Given the description of an element on the screen output the (x, y) to click on. 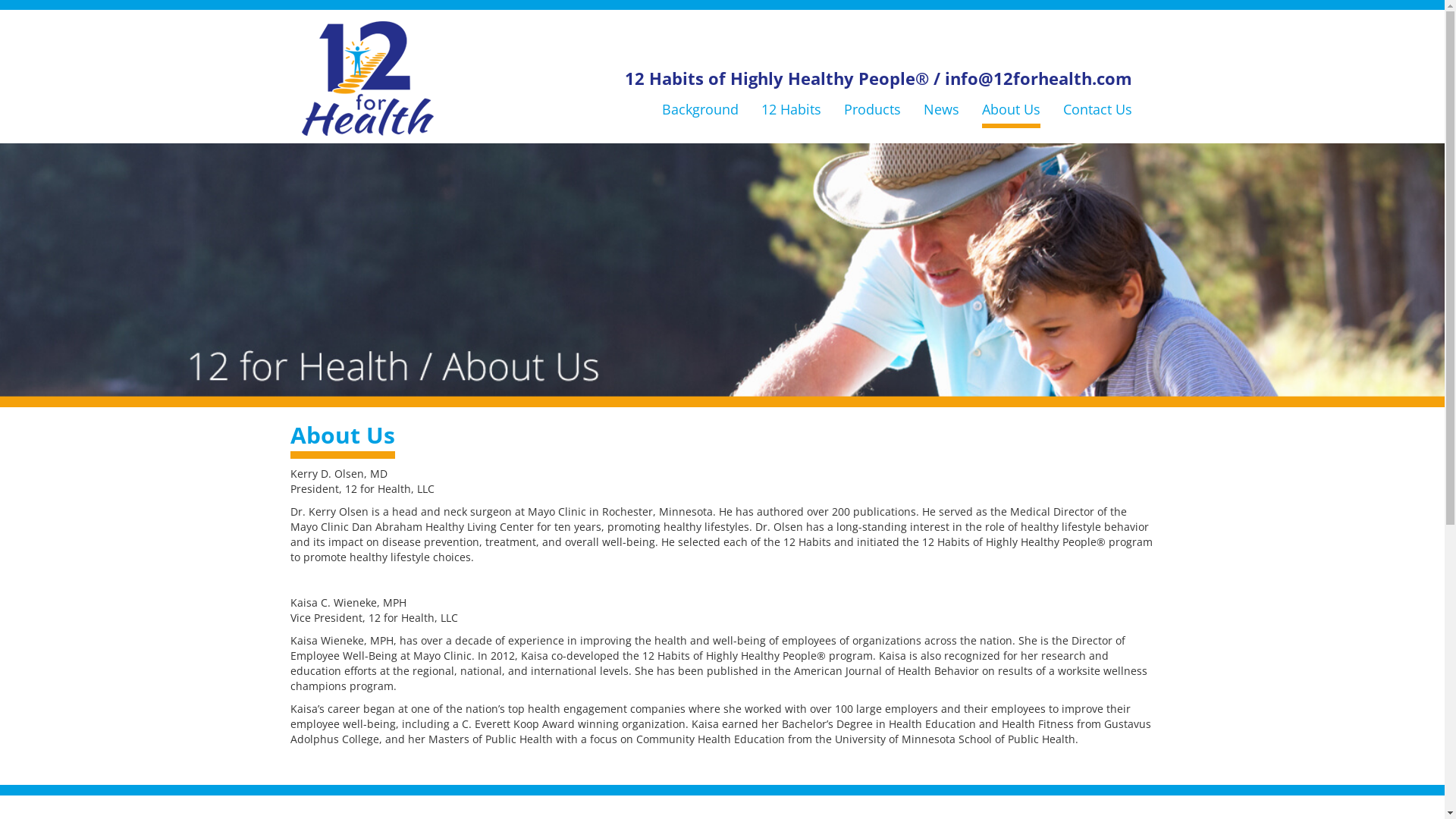
About Us Element type: text (1010, 109)
Products Element type: text (871, 106)
Contact Us Element type: text (1097, 106)
info@12forhealth.com Element type: text (1038, 49)
News Element type: text (941, 106)
12 Habits Element type: text (791, 106)
Background Element type: text (699, 106)
